Given the description of an element on the screen output the (x, y) to click on. 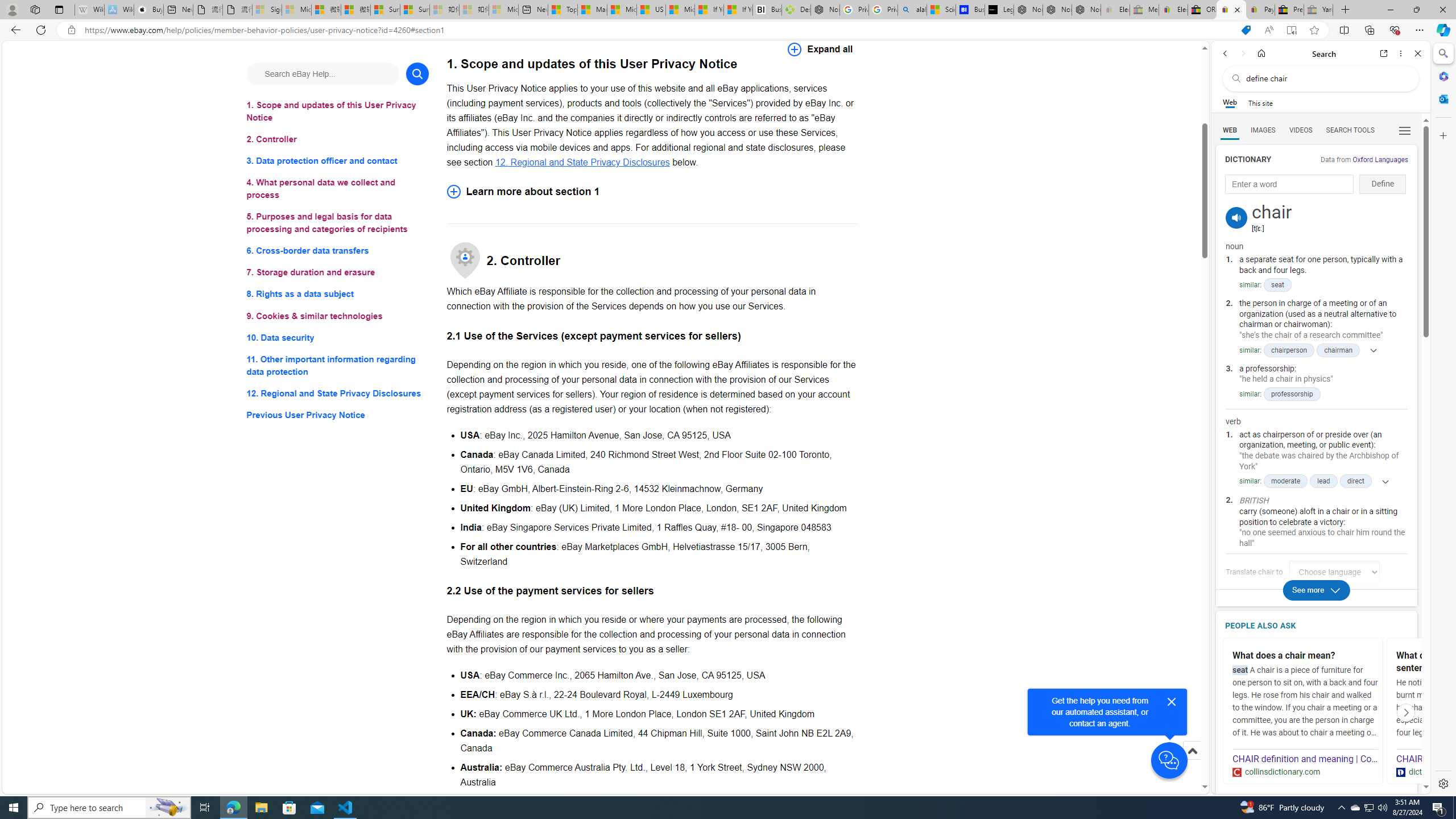
pronounce (1236, 217)
Marine life - MSN (591, 9)
This site has coupons! Shopping in Microsoft Edge (1245, 29)
US Heat Deaths Soared To Record High Last Year (651, 9)
alabama high school quarterback dies - Search (911, 9)
2. Controller (337, 138)
